Given the description of an element on the screen output the (x, y) to click on. 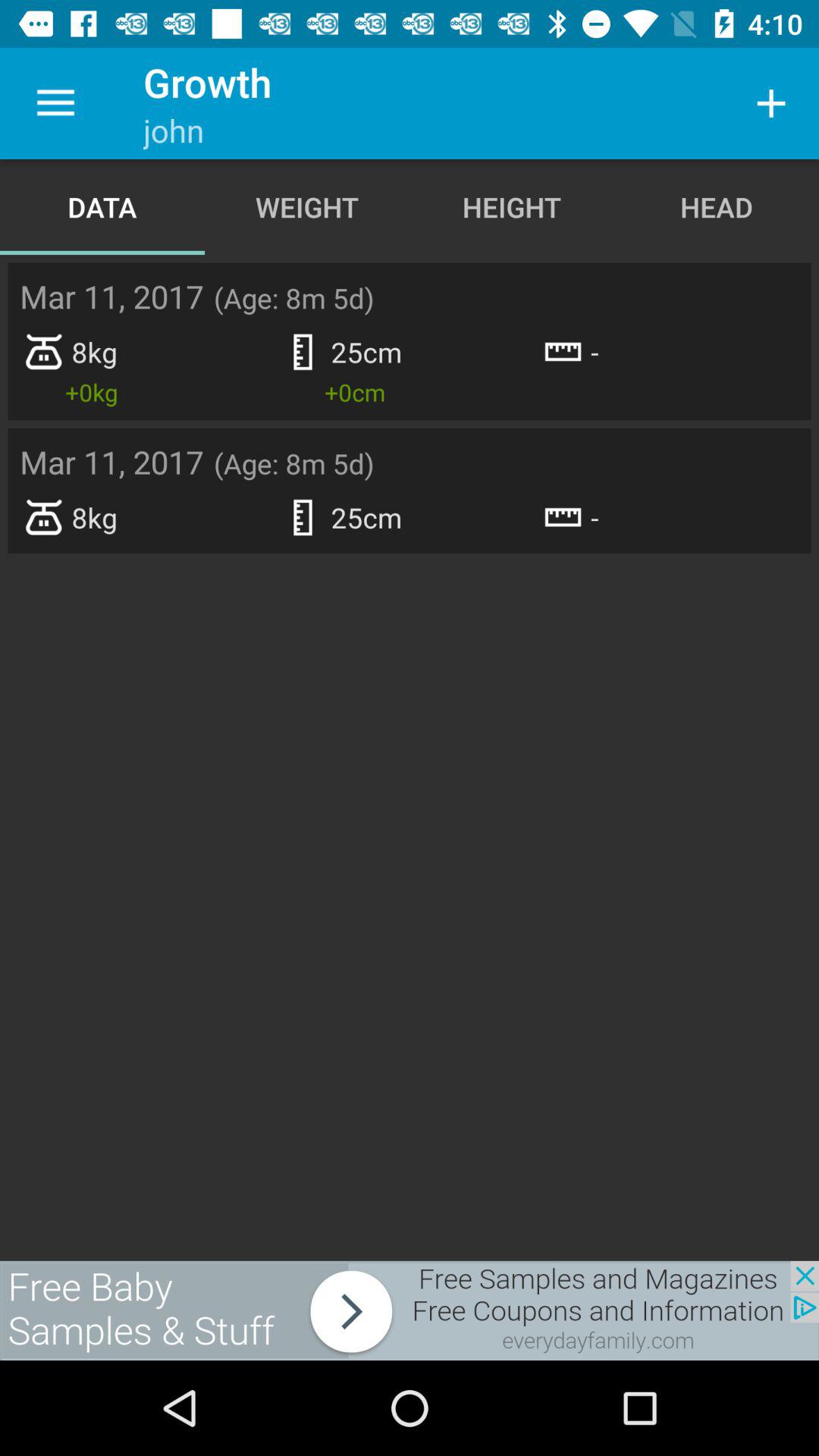
advertisement the article (409, 1310)
